Given the description of an element on the screen output the (x, y) to click on. 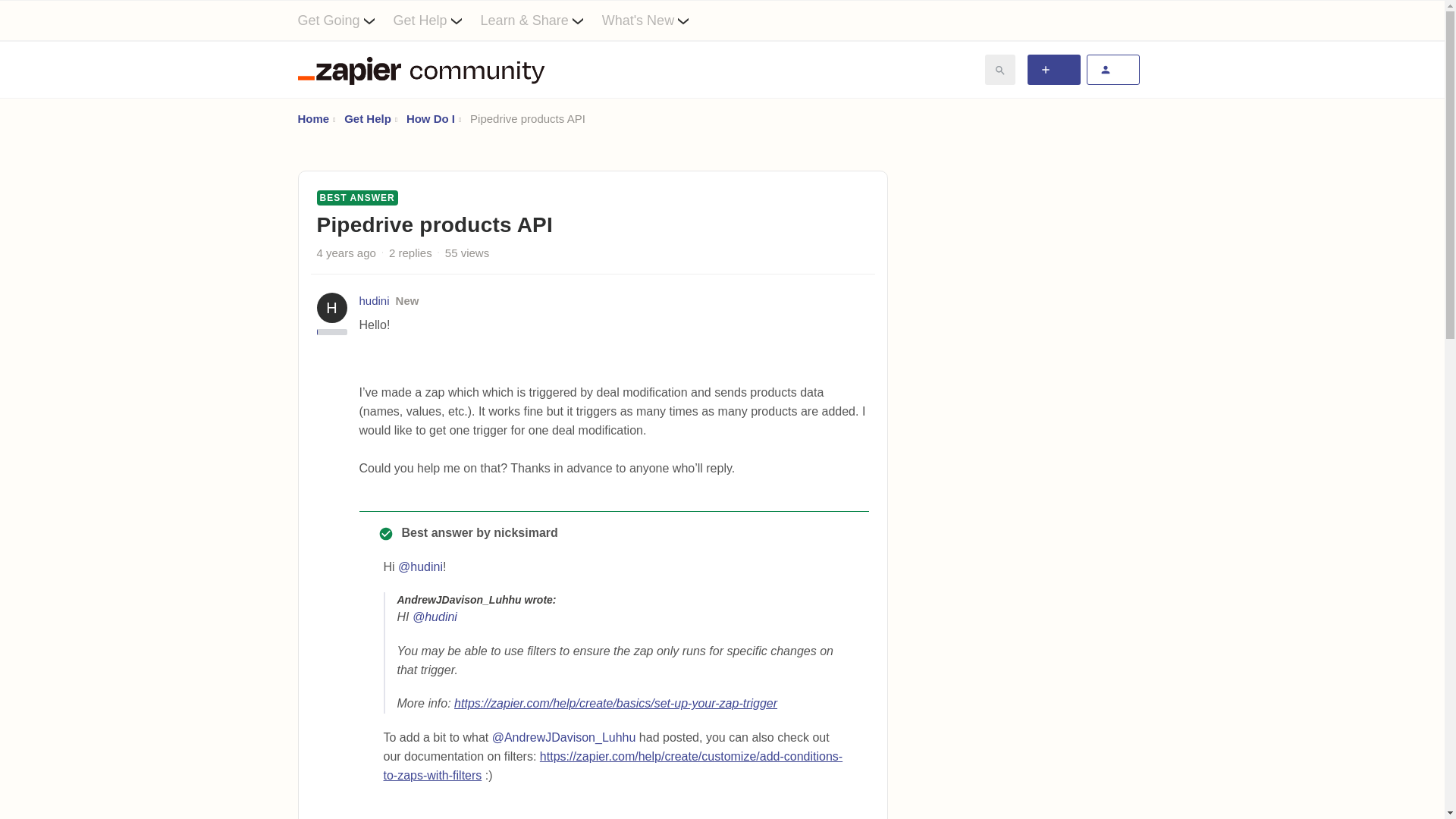
New (407, 300)
Home (313, 118)
Get Help (367, 118)
What's New (654, 20)
Get Going (345, 20)
Get Help (436, 20)
